Given the description of an element on the screen output the (x, y) to click on. 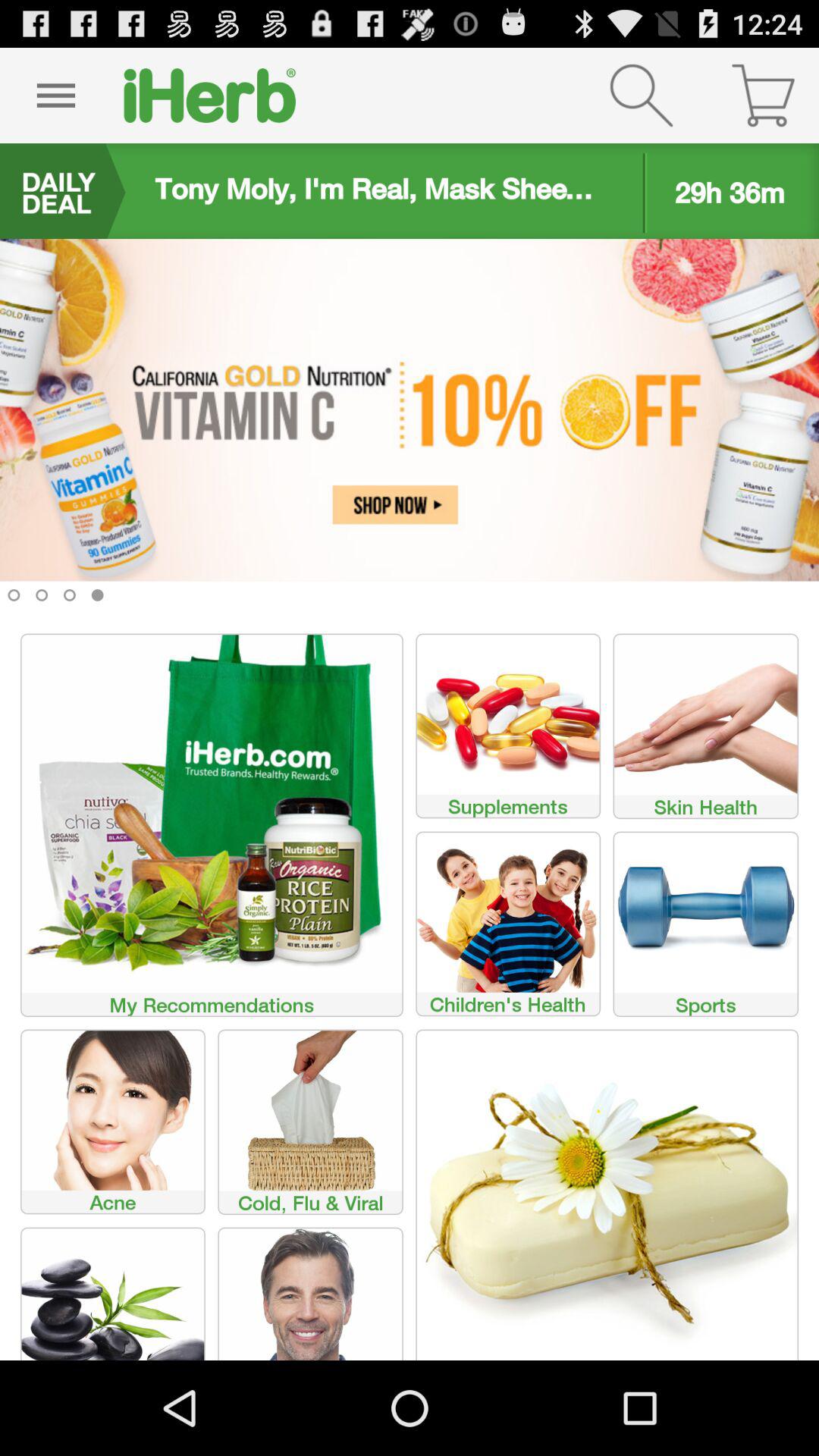
search function (641, 95)
